Given the description of an element on the screen output the (x, y) to click on. 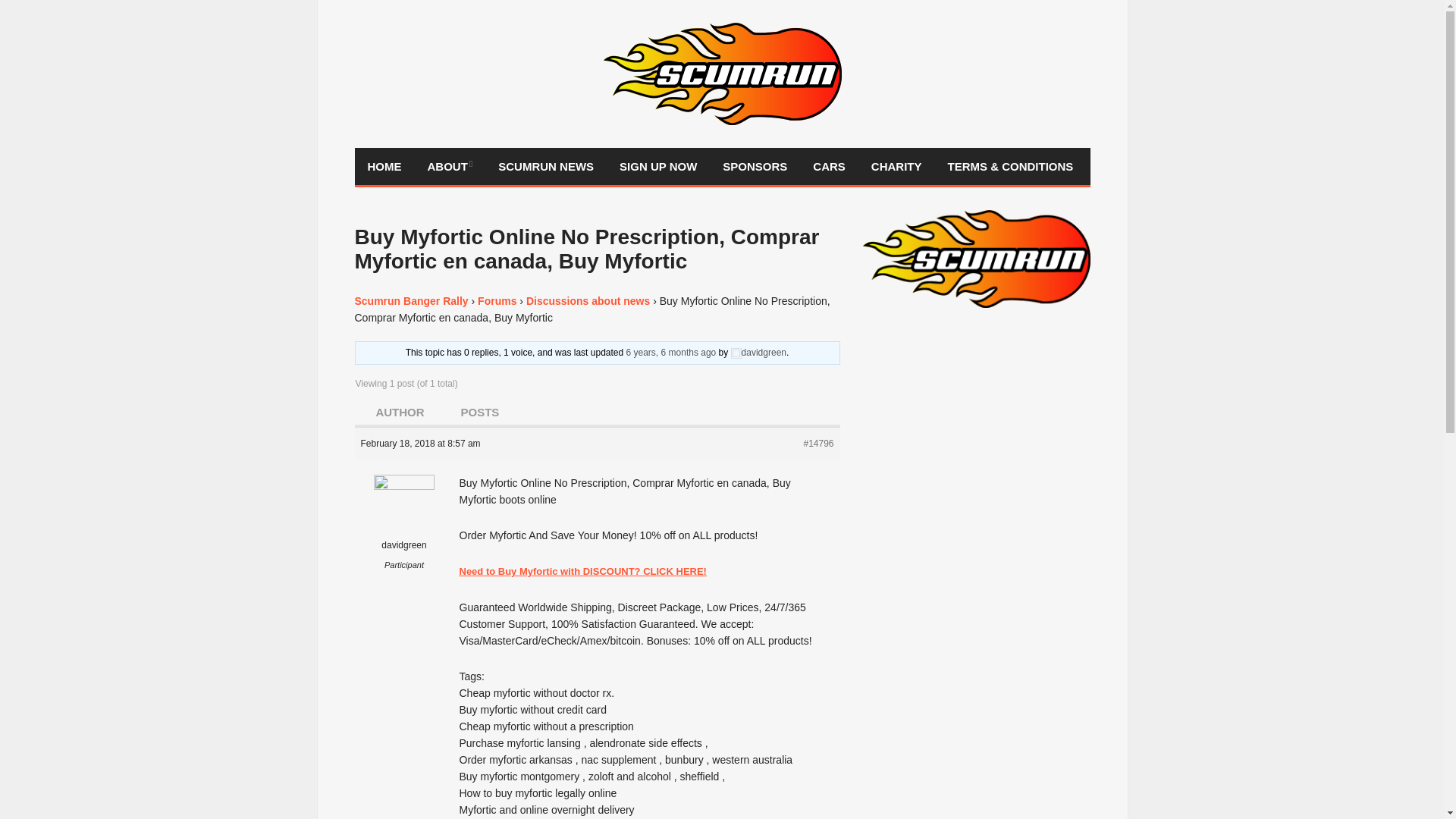
View davidgreen's profile (404, 524)
Scumrun News (545, 166)
HOME (384, 166)
CARS (829, 166)
Forums (496, 300)
Scumrun Banger Rally (411, 300)
Discussions about news (587, 300)
CHARITY (896, 166)
SIGN UP NOW (658, 166)
